Given the description of an element on the screen output the (x, y) to click on. 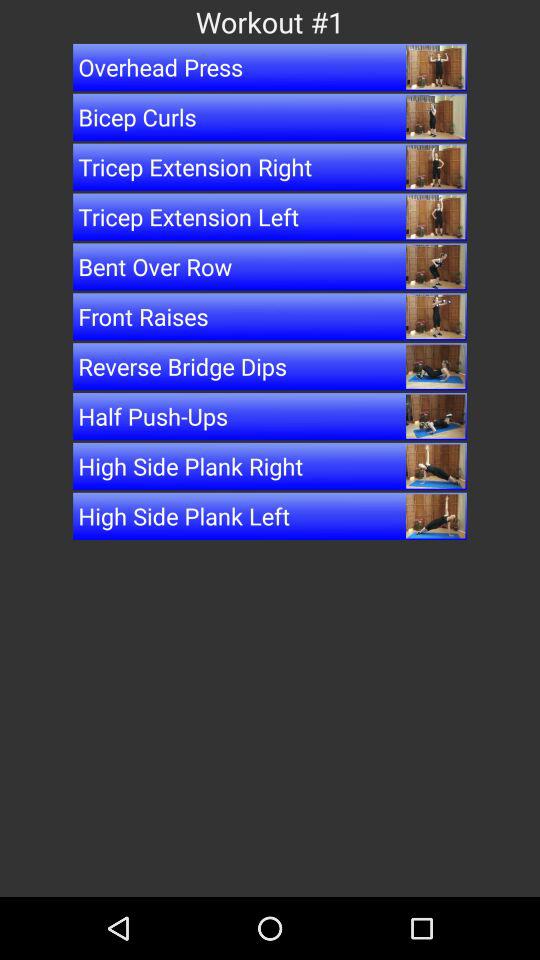
tap the half push-ups icon (269, 416)
